Given the description of an element on the screen output the (x, y) to click on. 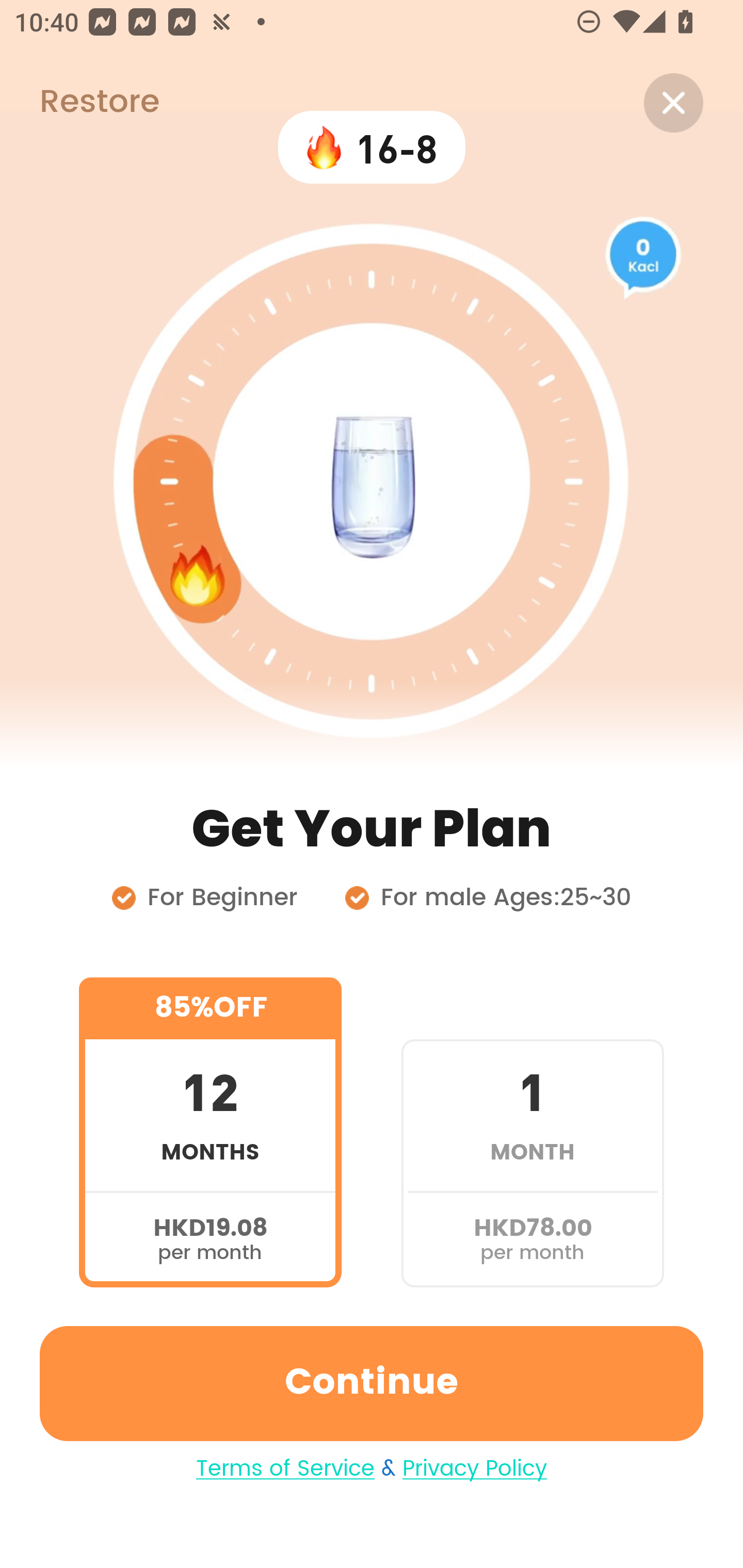
Restore (79, 102)
85%OFF 12 MONTHS per month HKD19.08 (209, 1131)
1 MONTH per month HKD78.00 (532, 1131)
Continue (371, 1383)
